Given the description of an element on the screen output the (x, y) to click on. 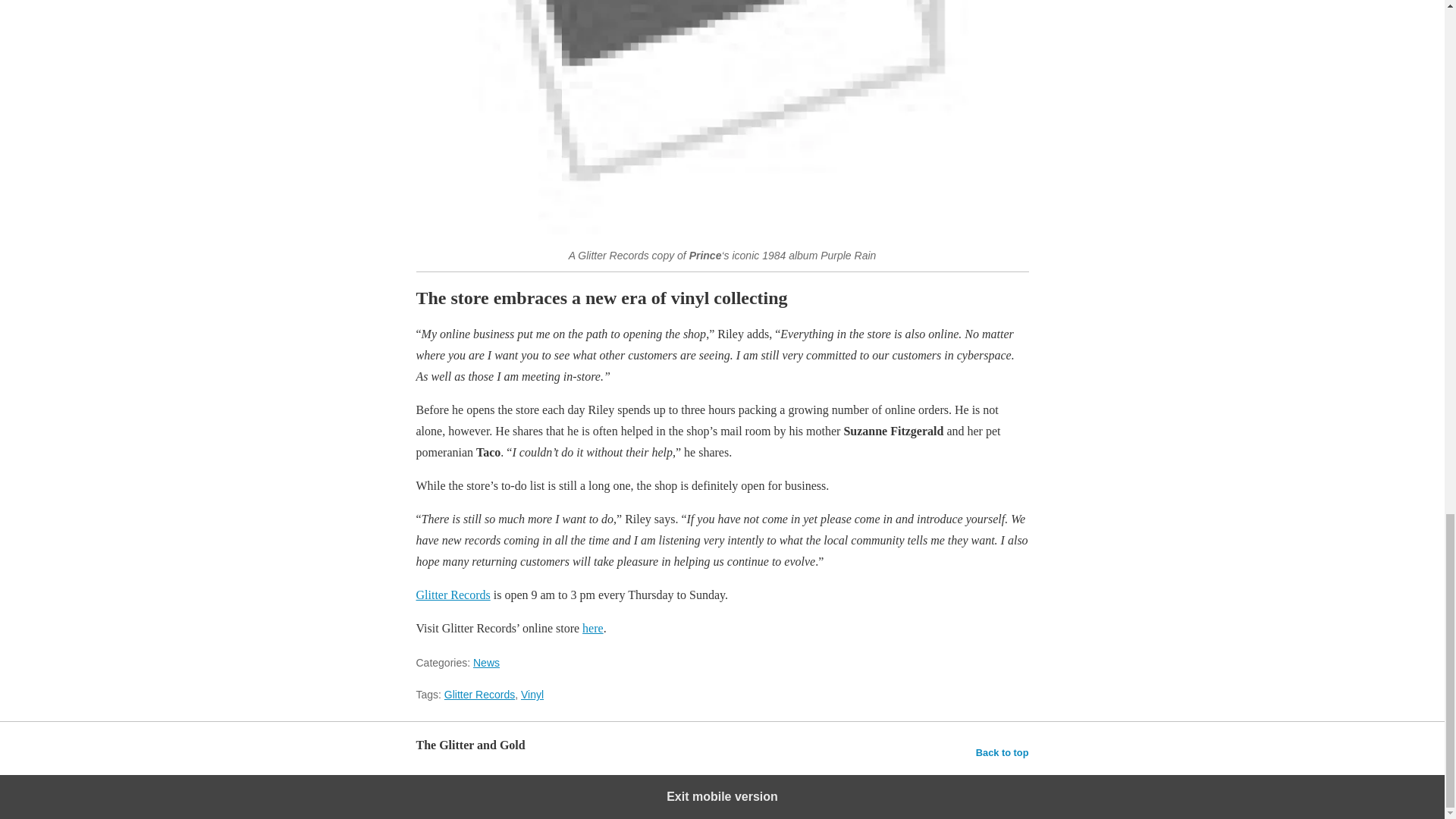
Back to top (1002, 752)
Vinyl (532, 694)
here (593, 627)
News (486, 662)
Glitter Records (479, 694)
Glitter Records (451, 594)
